Given the description of an element on the screen output the (x, y) to click on. 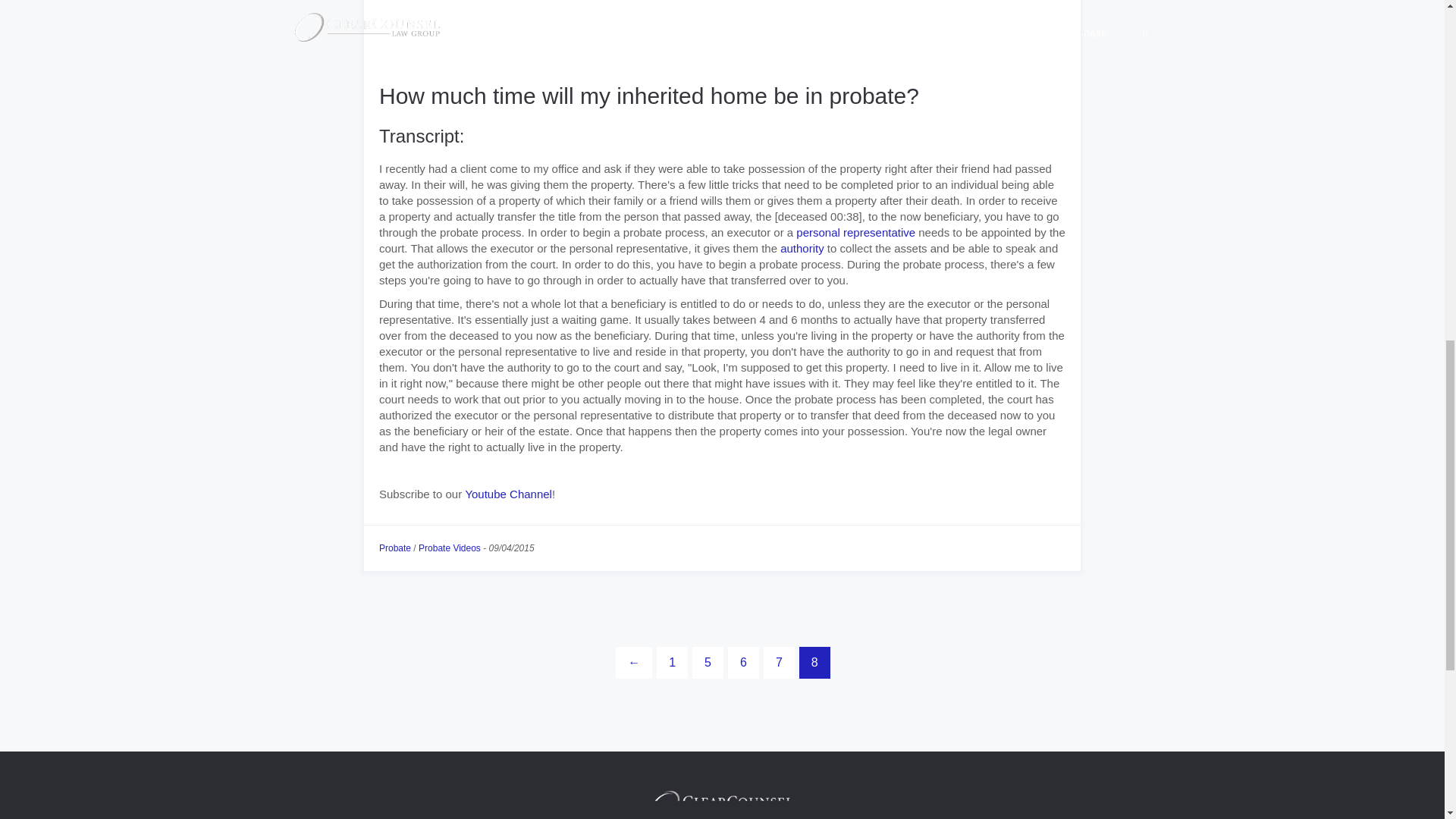
Probate (394, 547)
Personal representative (855, 232)
Authority (802, 247)
authority (802, 247)
Youtube Channel (507, 493)
personal representative (855, 232)
Probate Videos (449, 547)
Clear Counsel Law Group (721, 804)
